Given the description of an element on the screen output the (x, y) to click on. 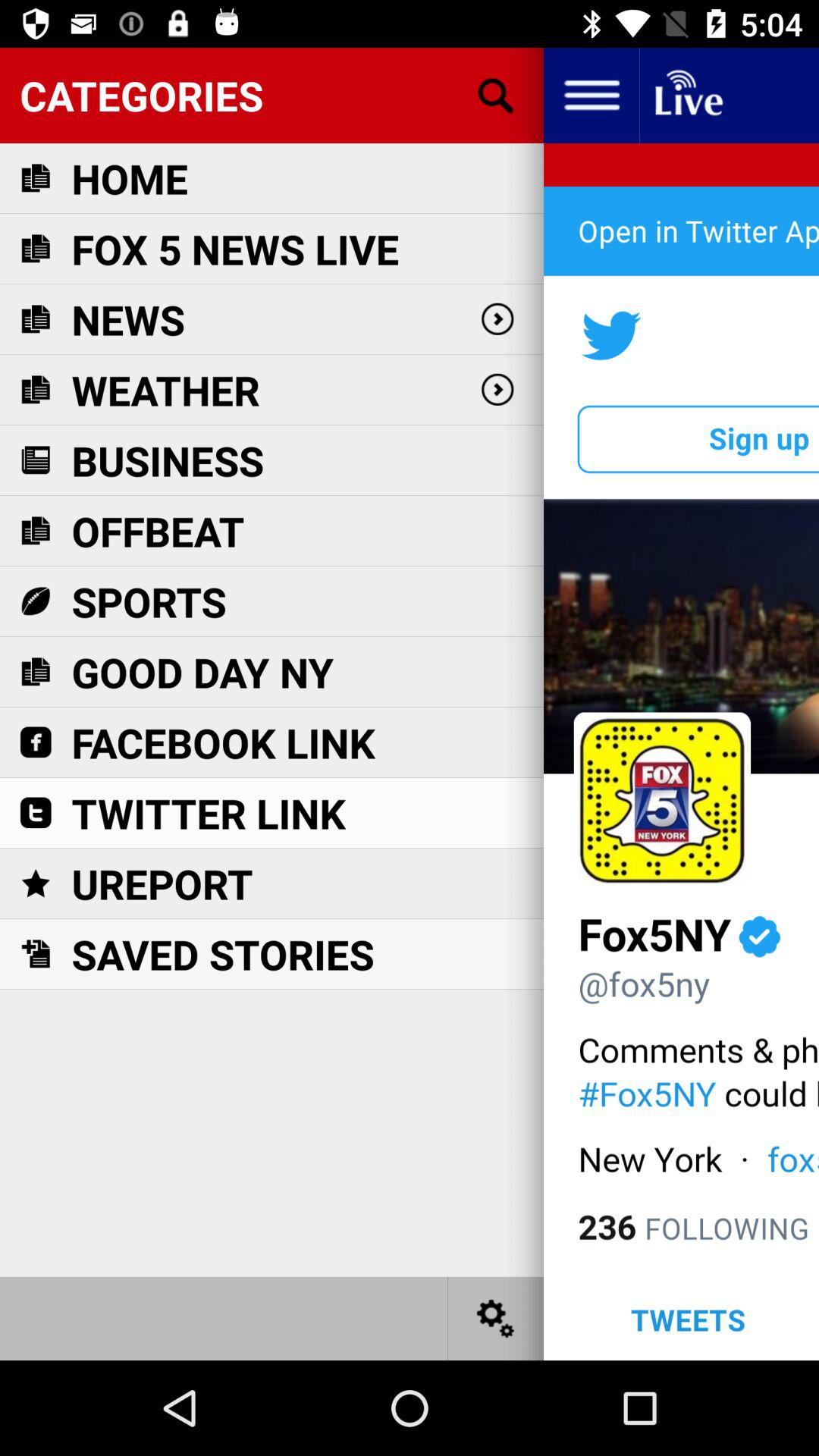
open the item below the facebook link item (208, 812)
